Given the description of an element on the screen output the (x, y) to click on. 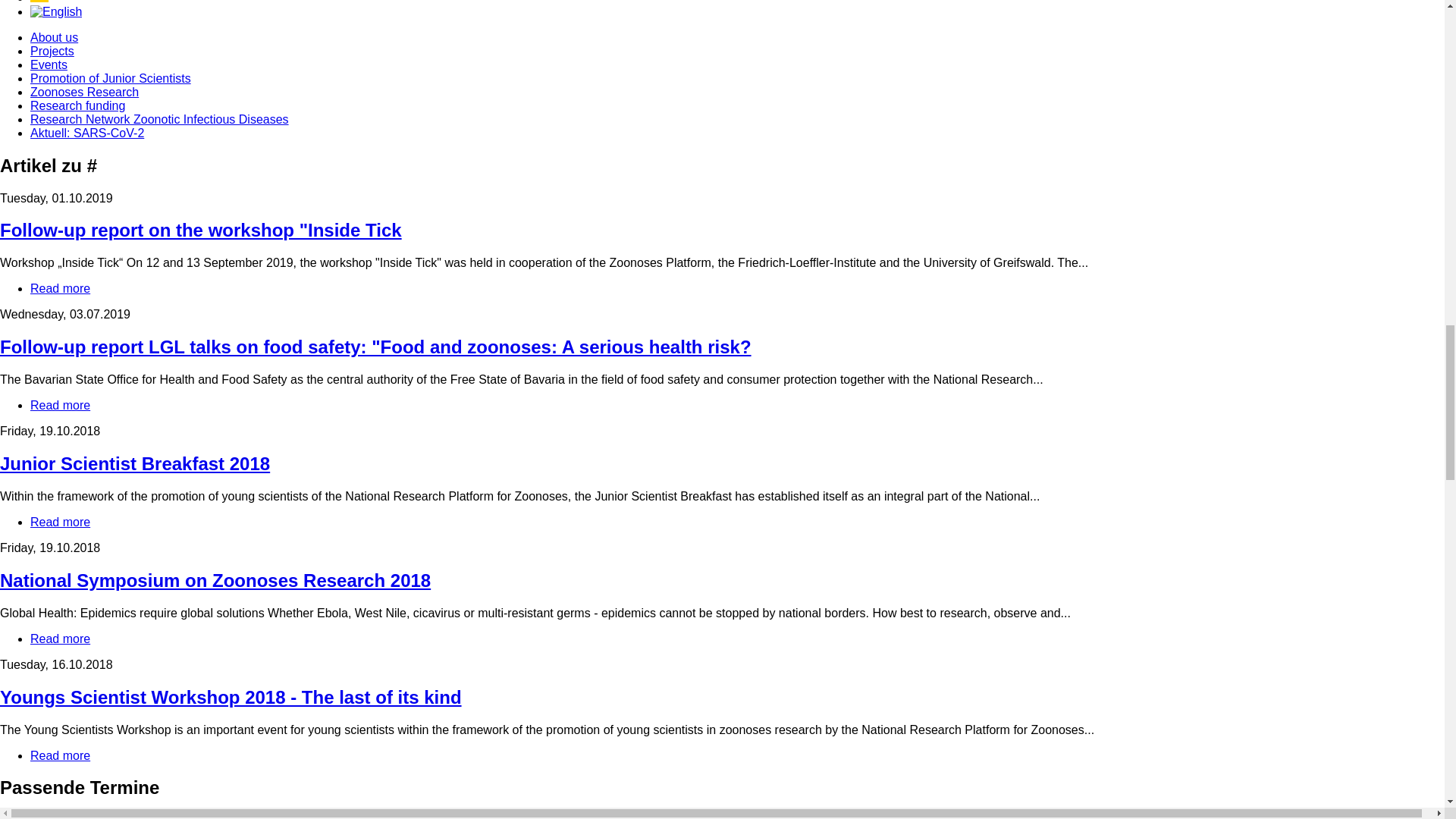
Youngs Scientist Workshop 2018 - The last of its kind (60, 638)
Follow-up report on the workshop "Inside Tick (60, 755)
Junior Scientist Breakfast 2018 (200, 230)
Promotion of Junior Scientists (60, 521)
National Symposium on Zoonoses Research 2018 (110, 78)
Zoonoses Research (215, 580)
